Given the description of an element on the screen output the (x, y) to click on. 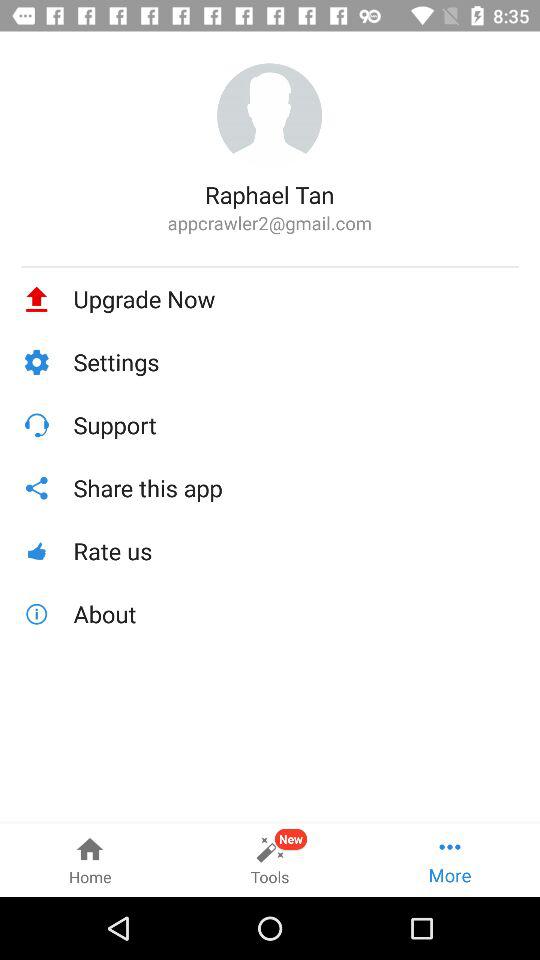
select rate us icon (296, 550)
